Given the description of an element on the screen output the (x, y) to click on. 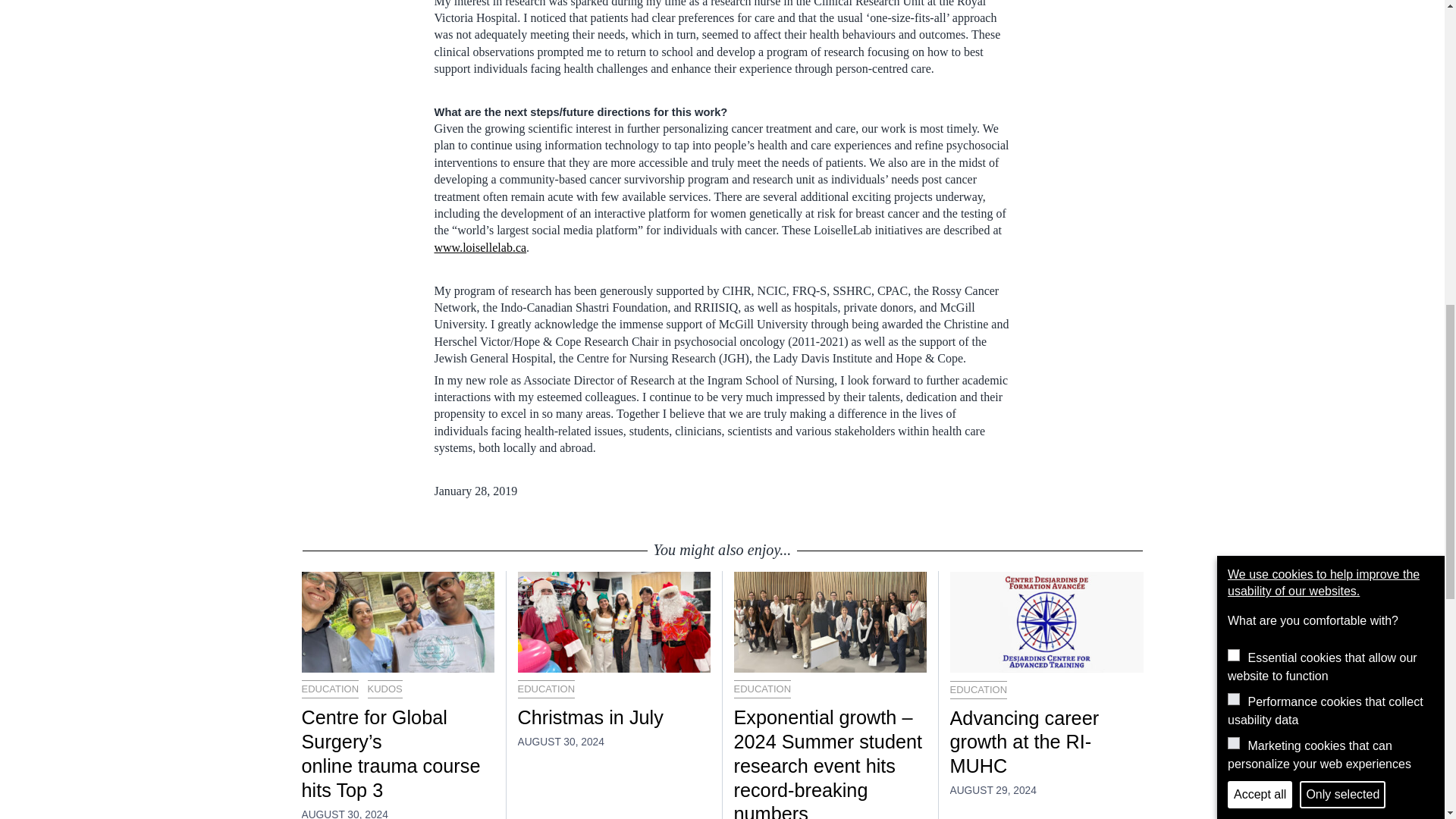
www.loisellelab.ca (479, 246)
EDUCATION (978, 689)
EDUCATION (762, 689)
EDUCATION (330, 689)
KUDOS (385, 689)
Advancing career growth at the RI-MUHC (1045, 742)
EDUCATION (545, 689)
Christmas in July (613, 717)
